Given the description of an element on the screen output the (x, y) to click on. 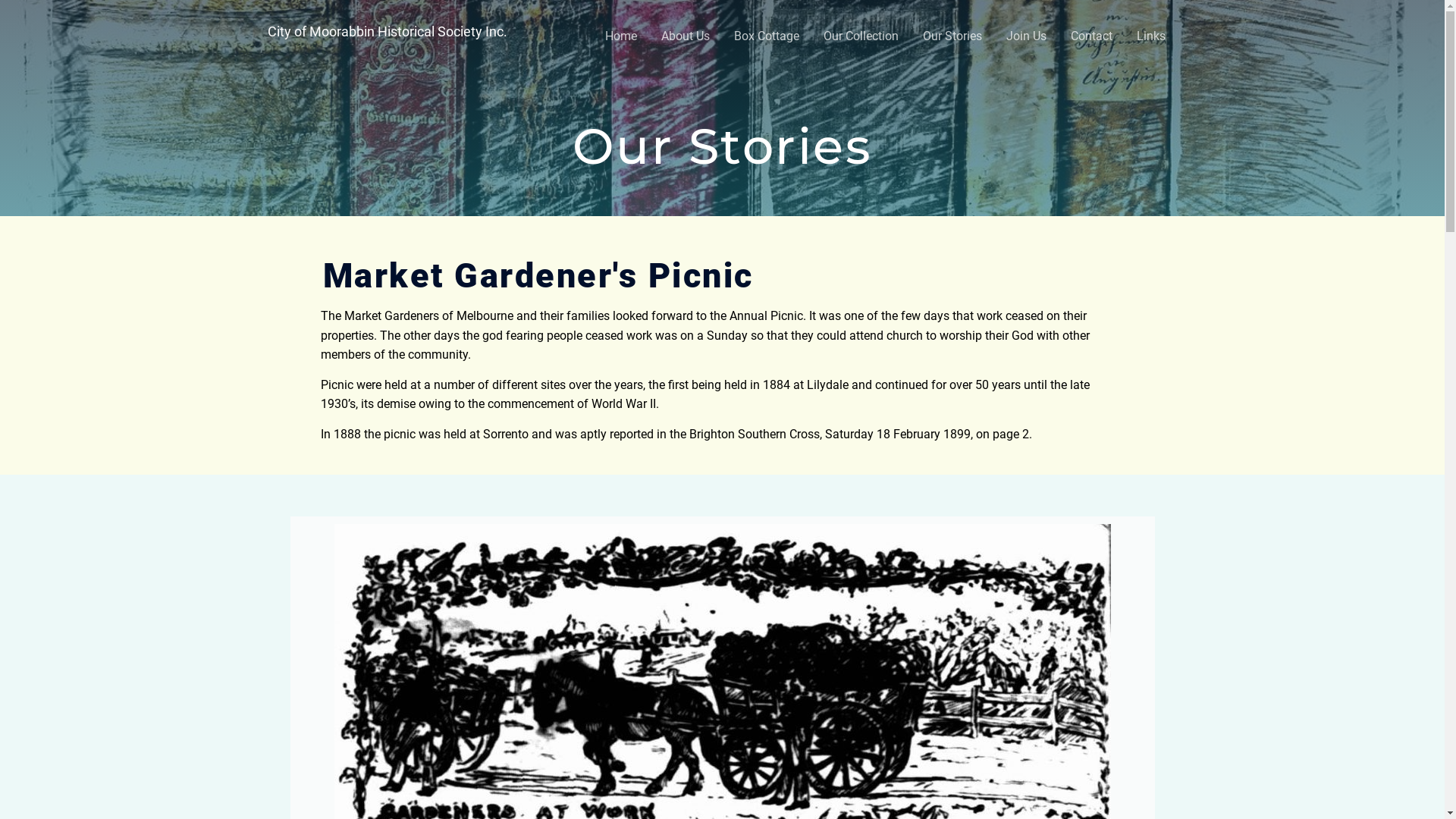
Contact Element type: text (1091, 36)
Our Stories Element type: text (951, 36)
Box Cottage Element type: text (766, 36)
Links Element type: text (1149, 36)
Join Us Element type: text (1025, 36)
About Us Element type: text (685, 36)
Our Collection Element type: text (860, 36)
Home Element type: text (621, 36)
